Given the description of an element on the screen output the (x, y) to click on. 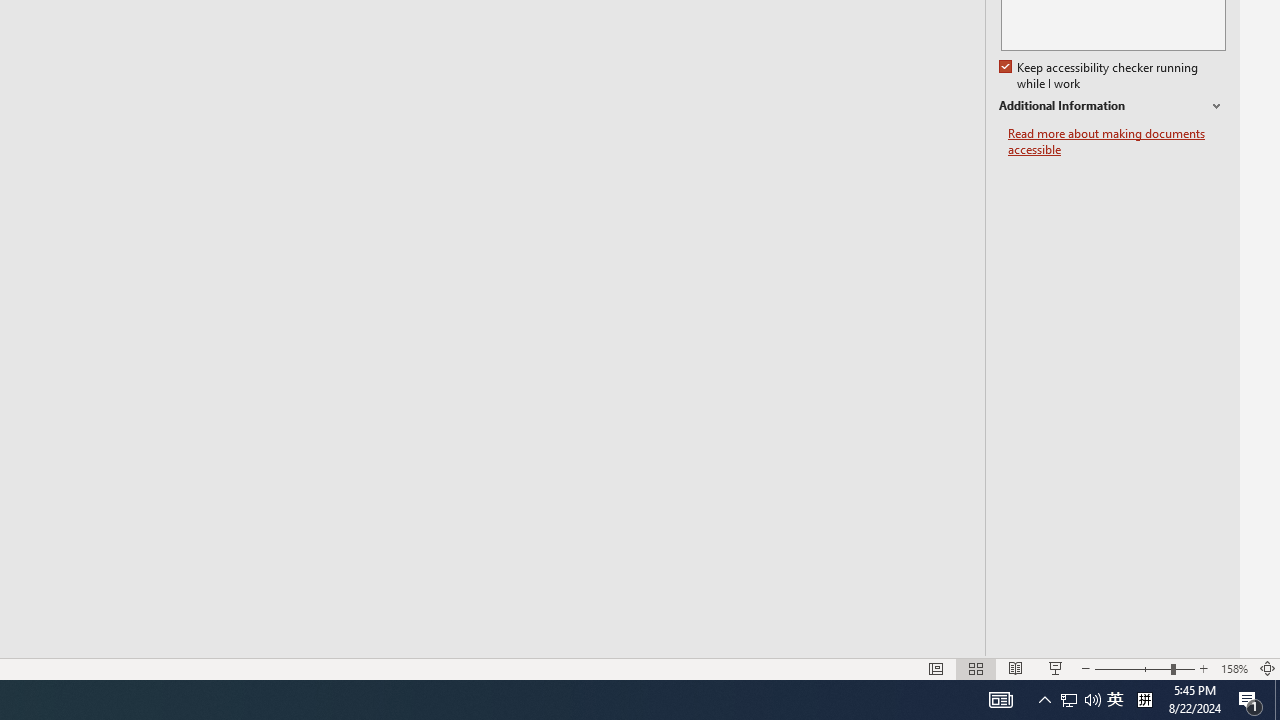
Zoom 158% (1234, 668)
